Given the description of an element on the screen output the (x, y) to click on. 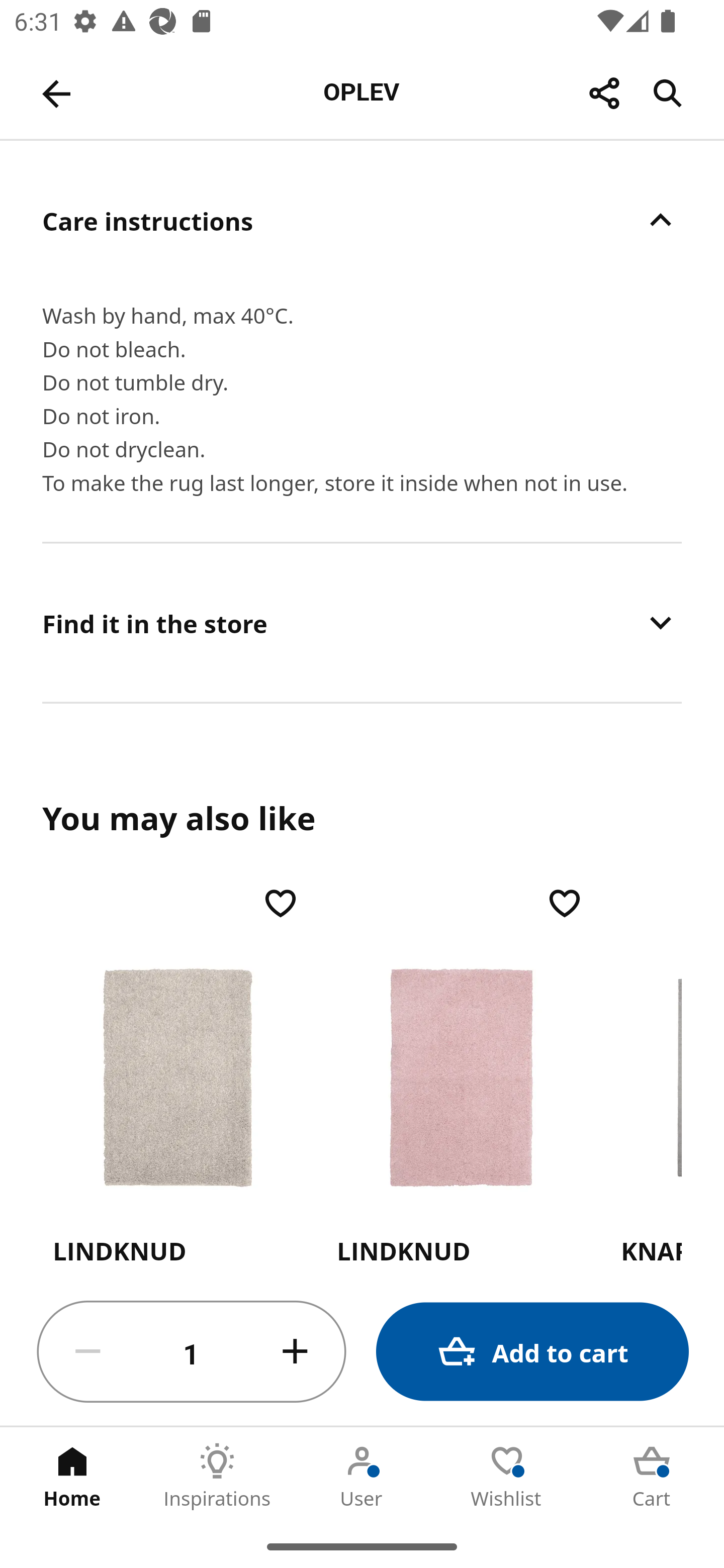
Care instructions (361, 219)
Find it in the store (361, 622)
Add to cart (531, 1352)
1 (191, 1352)
Home
Tab 1 of 5 (72, 1476)
Inspirations
Tab 2 of 5 (216, 1476)
User
Tab 3 of 5 (361, 1476)
Wishlist
Tab 4 of 5 (506, 1476)
Cart
Tab 5 of 5 (651, 1476)
